Given the description of an element on the screen output the (x, y) to click on. 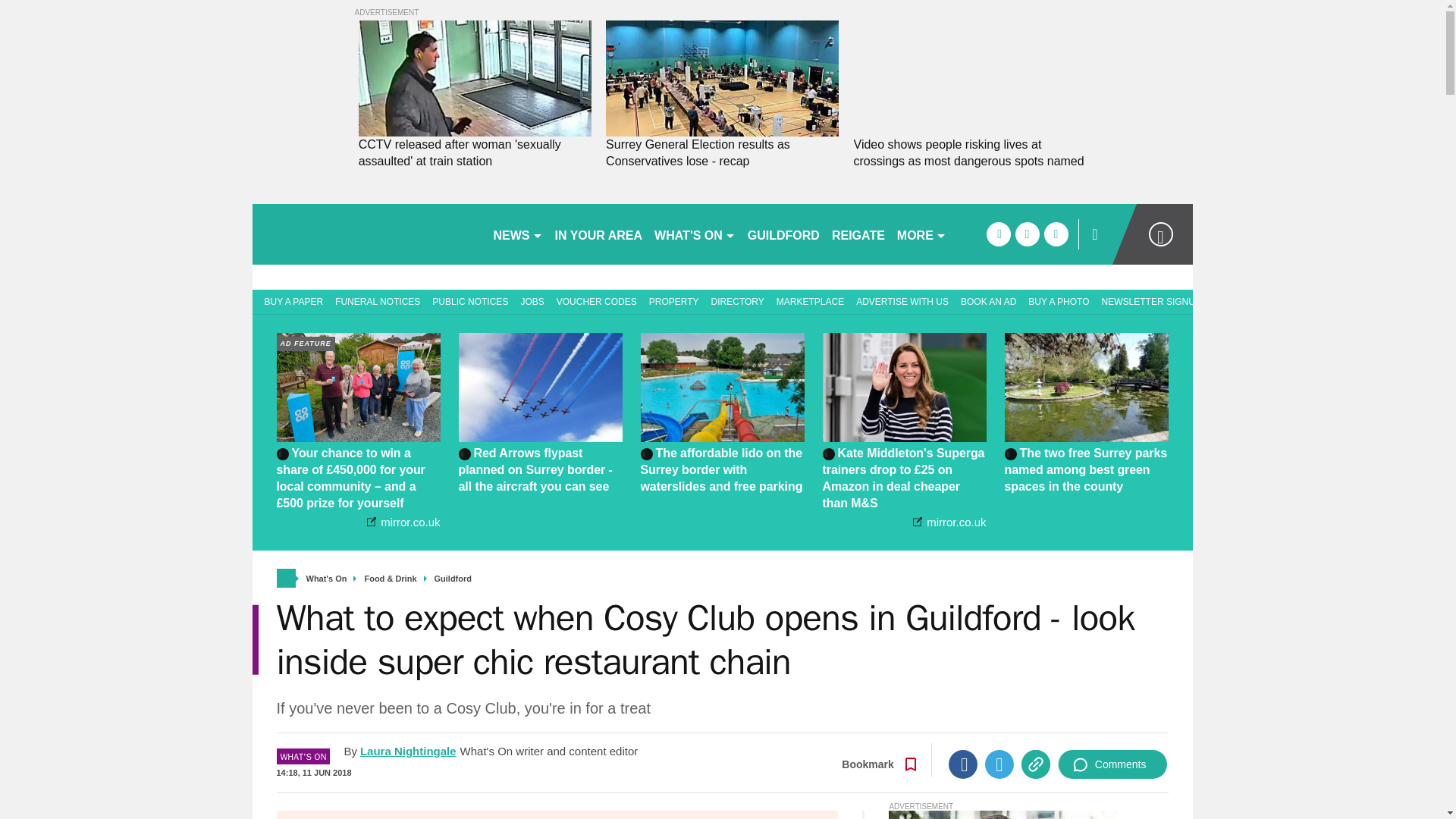
Twitter (999, 764)
Comments (1112, 764)
NEWS (517, 233)
getsurrey (365, 233)
instagram (1055, 233)
IN YOUR AREA (598, 233)
Facebook (962, 764)
twitter (1026, 233)
MORE (921, 233)
